Given the description of an element on the screen output the (x, y) to click on. 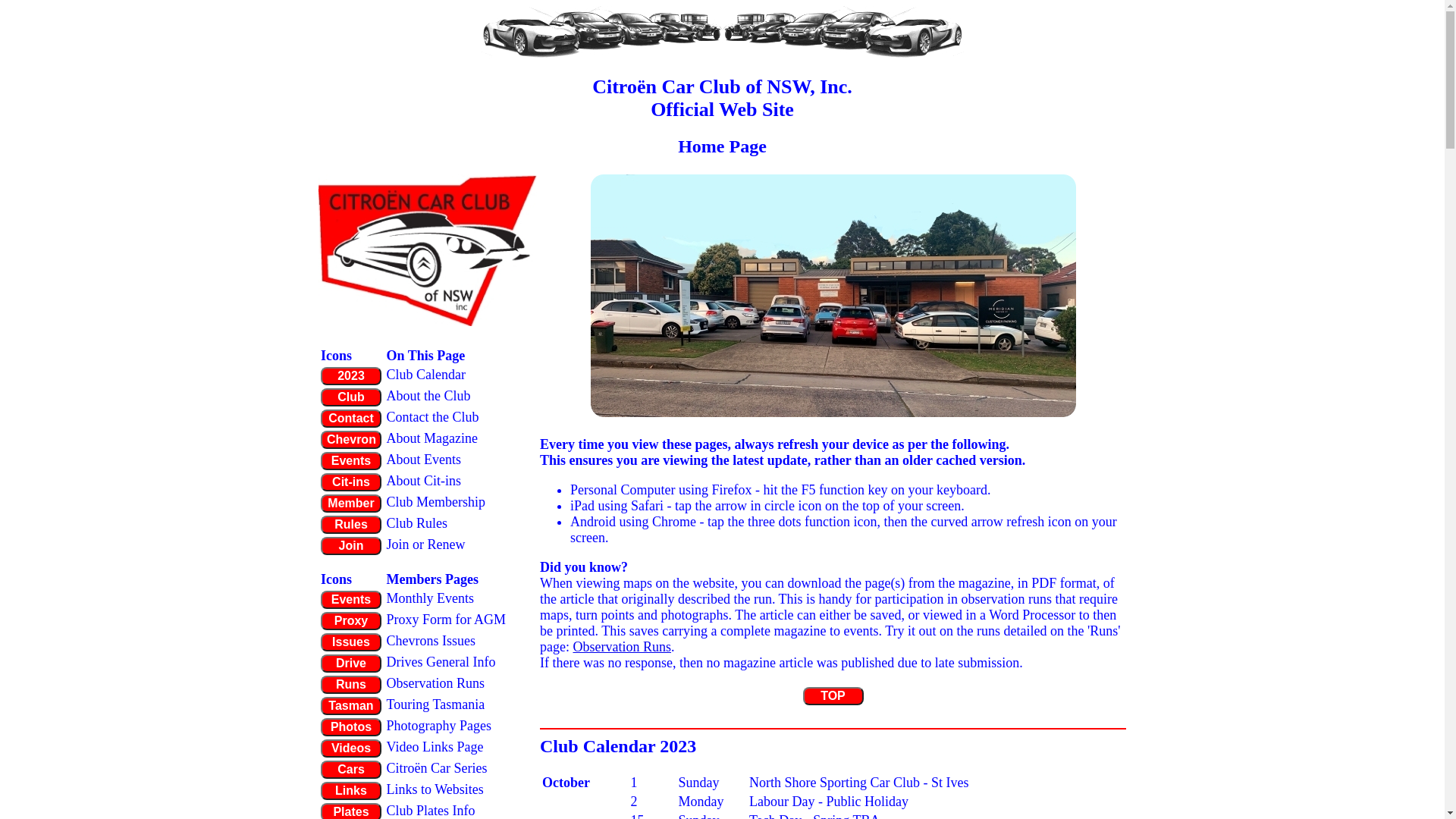
Club Element type: text (350, 397)
Tasman Element type: text (350, 705)
Events Element type: text (350, 460)
Videos Element type: text (350, 748)
Drive Element type: text (350, 663)
Events Element type: text (350, 599)
Runs Element type: text (350, 684)
Chevron Element type: text (350, 439)
Links Element type: text (350, 790)
Join Element type: text (350, 545)
Issues Element type: text (350, 642)
Photos Element type: text (350, 727)
Rules Element type: text (350, 524)
Cit-ins Element type: text (350, 482)
Proxy Element type: text (350, 620)
2023 Element type: text (350, 376)
TOP Element type: text (832, 696)
Observation Runs Element type: text (621, 646)
Contact Element type: text (350, 418)
Cars Element type: text (350, 769)
Member Element type: text (350, 503)
